Given the description of an element on the screen output the (x, y) to click on. 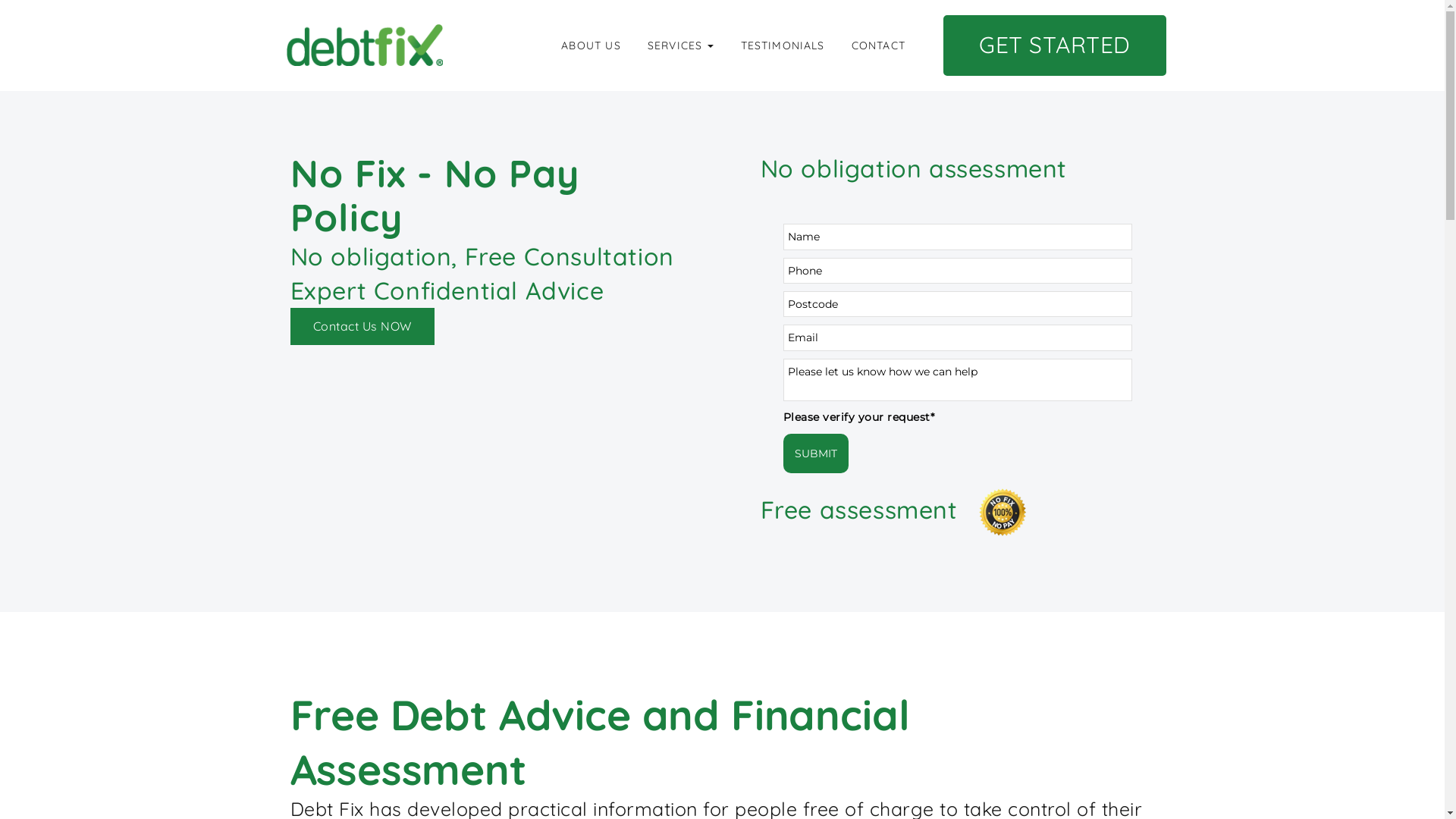
ABOUT US Element type: text (590, 45)
TESTIMONIALS Element type: text (782, 45)
GET STARTED Element type: text (1054, 45)
SUBMIT Element type: text (814, 453)
CONTACT Element type: text (878, 45)
SERVICES Element type: text (680, 45)
Contact Us NOW Element type: text (361, 326)
